Given the description of an element on the screen output the (x, y) to click on. 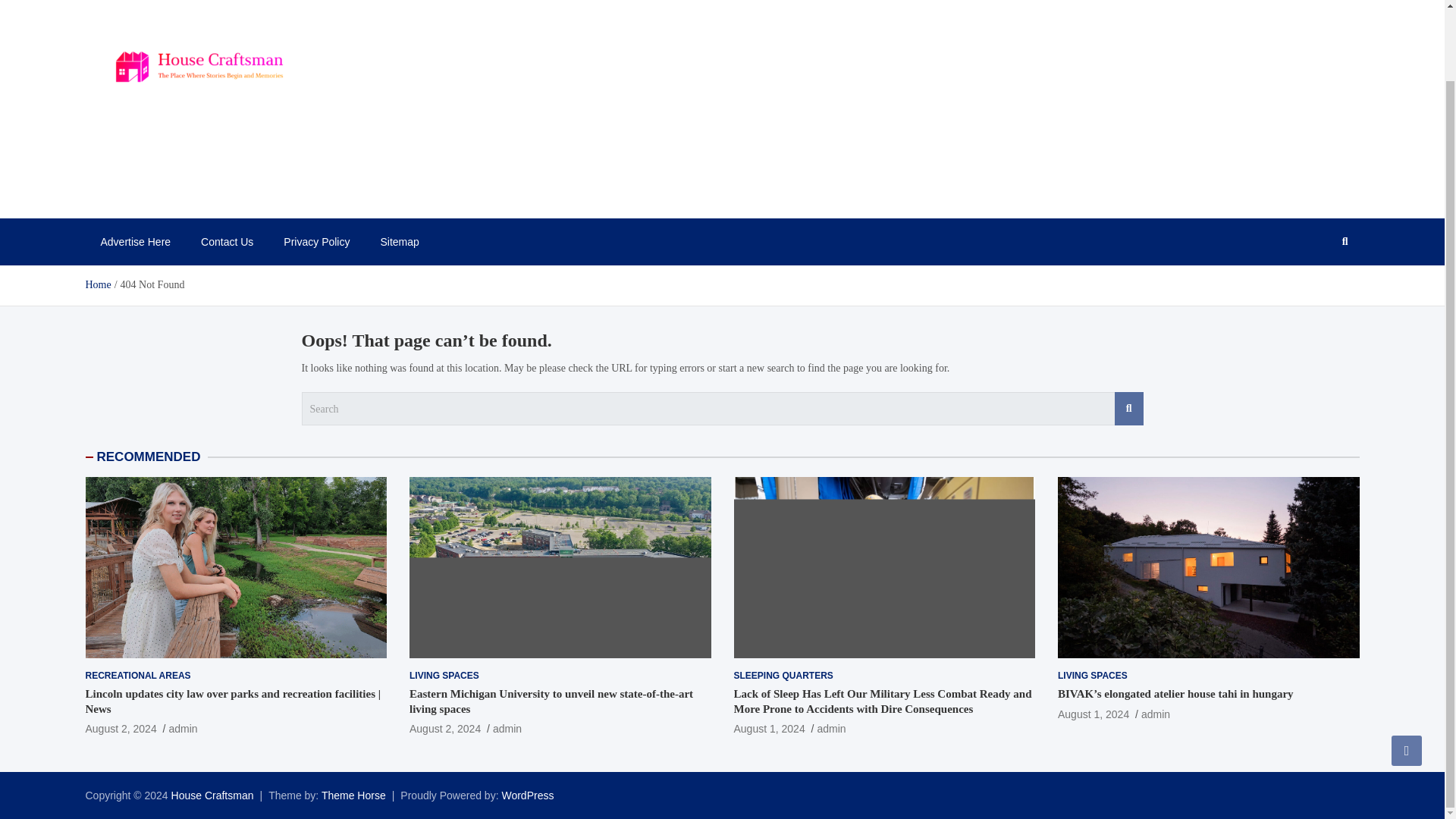
August 1, 2024 (769, 728)
LIVING SPACES (444, 676)
WordPress (526, 795)
Go to Top (1406, 671)
August 1, 2024 (1093, 714)
SLEEPING QUARTERS (782, 676)
RECOMMENDED (148, 456)
August 2, 2024 (444, 728)
August 2, 2024 (119, 728)
Privacy Policy (316, 241)
House Craftsman (212, 795)
House Craftsman (212, 795)
RECREATIONAL AREAS (137, 676)
LIVING SPACES (1092, 676)
admin (507, 728)
